Given the description of an element on the screen output the (x, y) to click on. 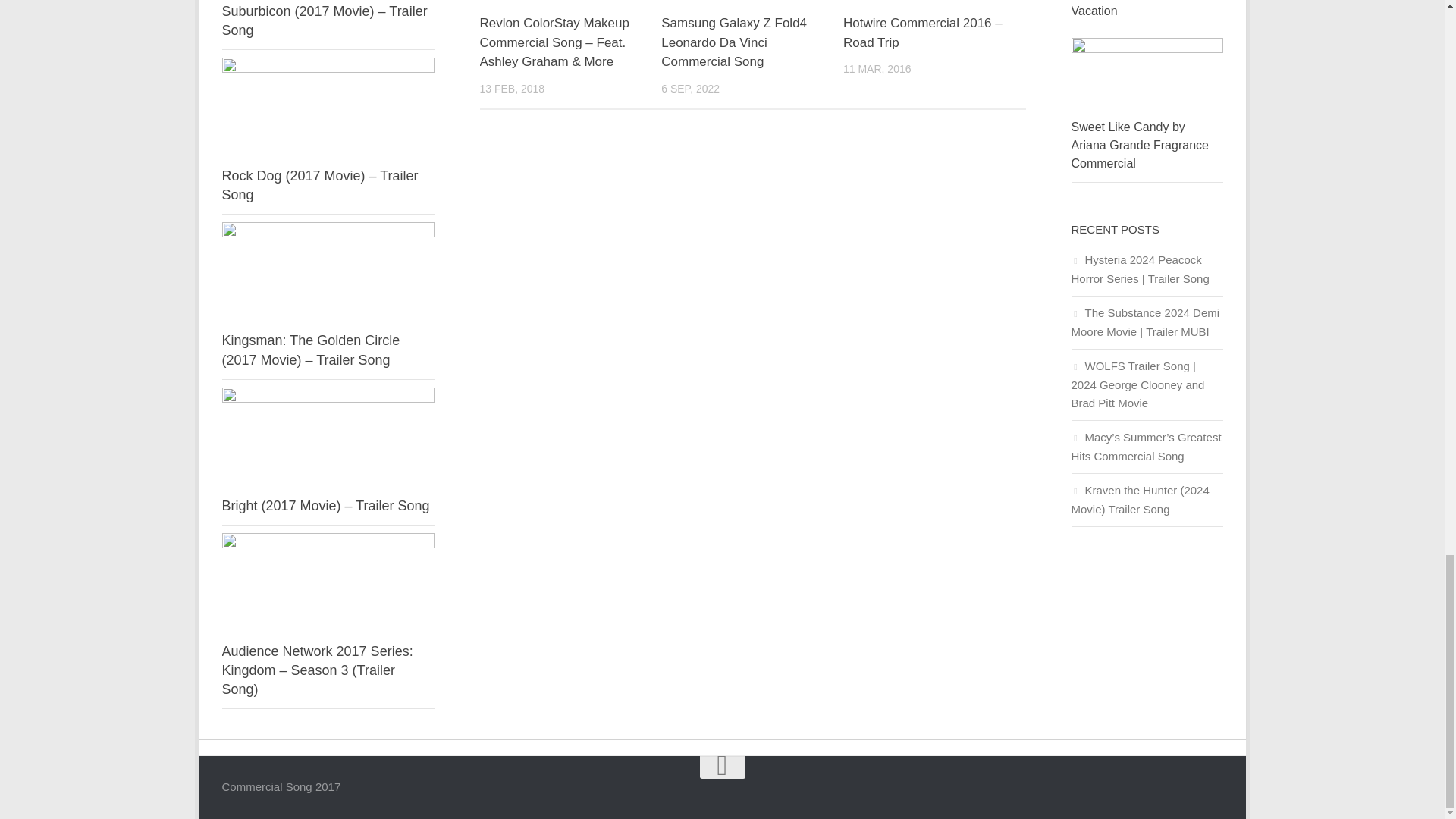
Samsung Galaxy Z Fold4 Leonardo Da Vinci Commercial Song (733, 41)
Samsung Galaxy Z Fold4 Leonardo Da Vinci Commercial Song (733, 41)
